Given the description of an element on the screen output the (x, y) to click on. 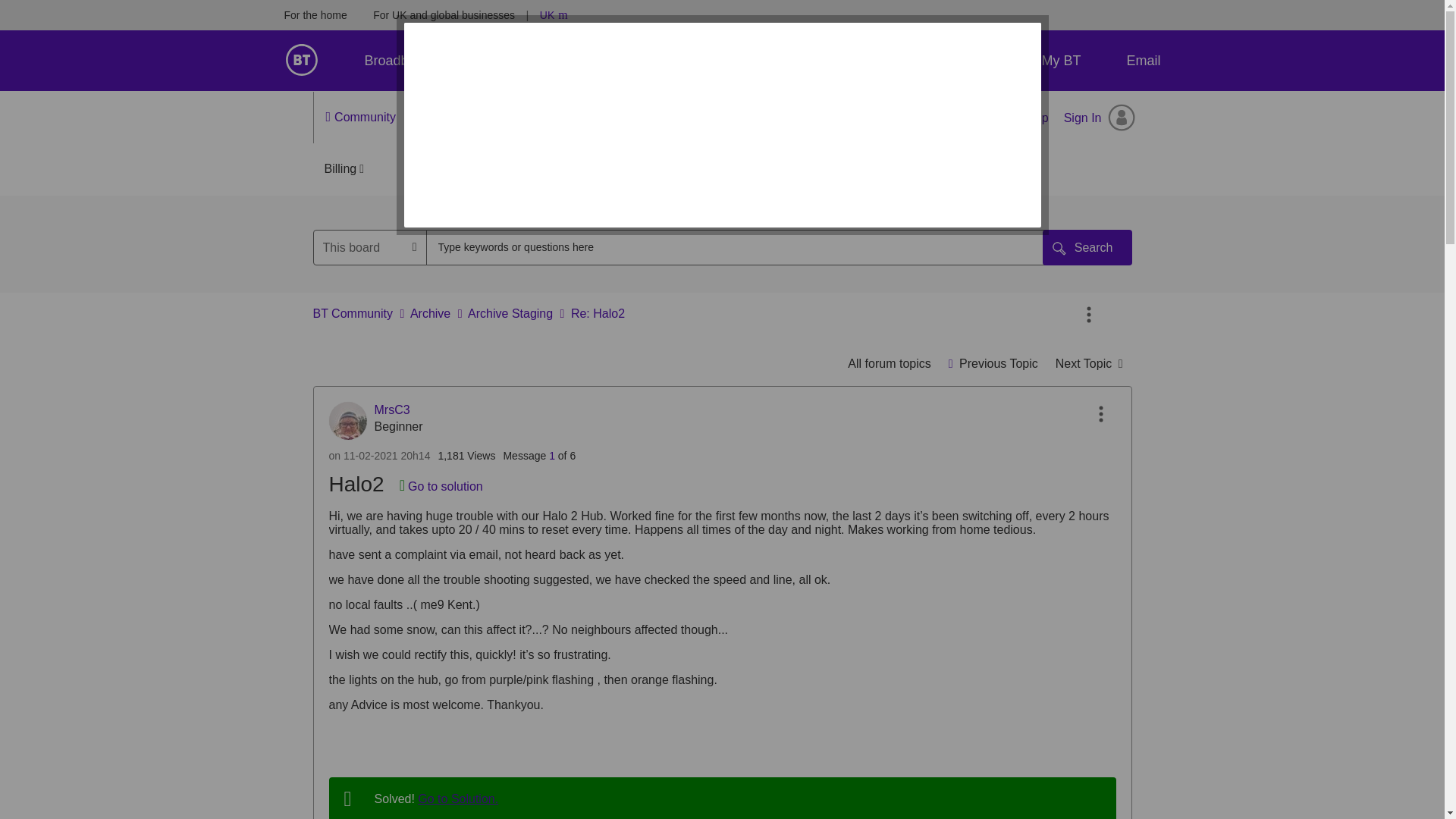
Search (1087, 247)
Show option menu (1088, 314)
For UK and global businesses (443, 15)
For the home (314, 15)
Sport (555, 60)
Search Granularity (370, 247)
Show option menu (1100, 413)
TV (485, 60)
Internet speed is horrendous (1089, 363)
MrsC3 (347, 420)
Search (1087, 247)
Archive Staging (888, 363)
Search (742, 247)
Broadband (396, 60)
Ping spikes (992, 363)
